Given the description of an element on the screen output the (x, y) to click on. 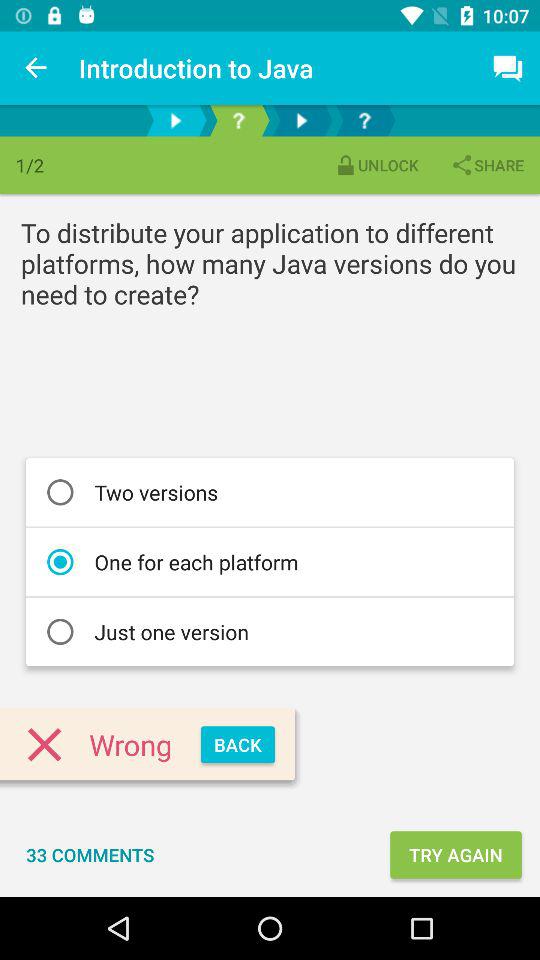
get help (364, 120)
